Given the description of an element on the screen output the (x, y) to click on. 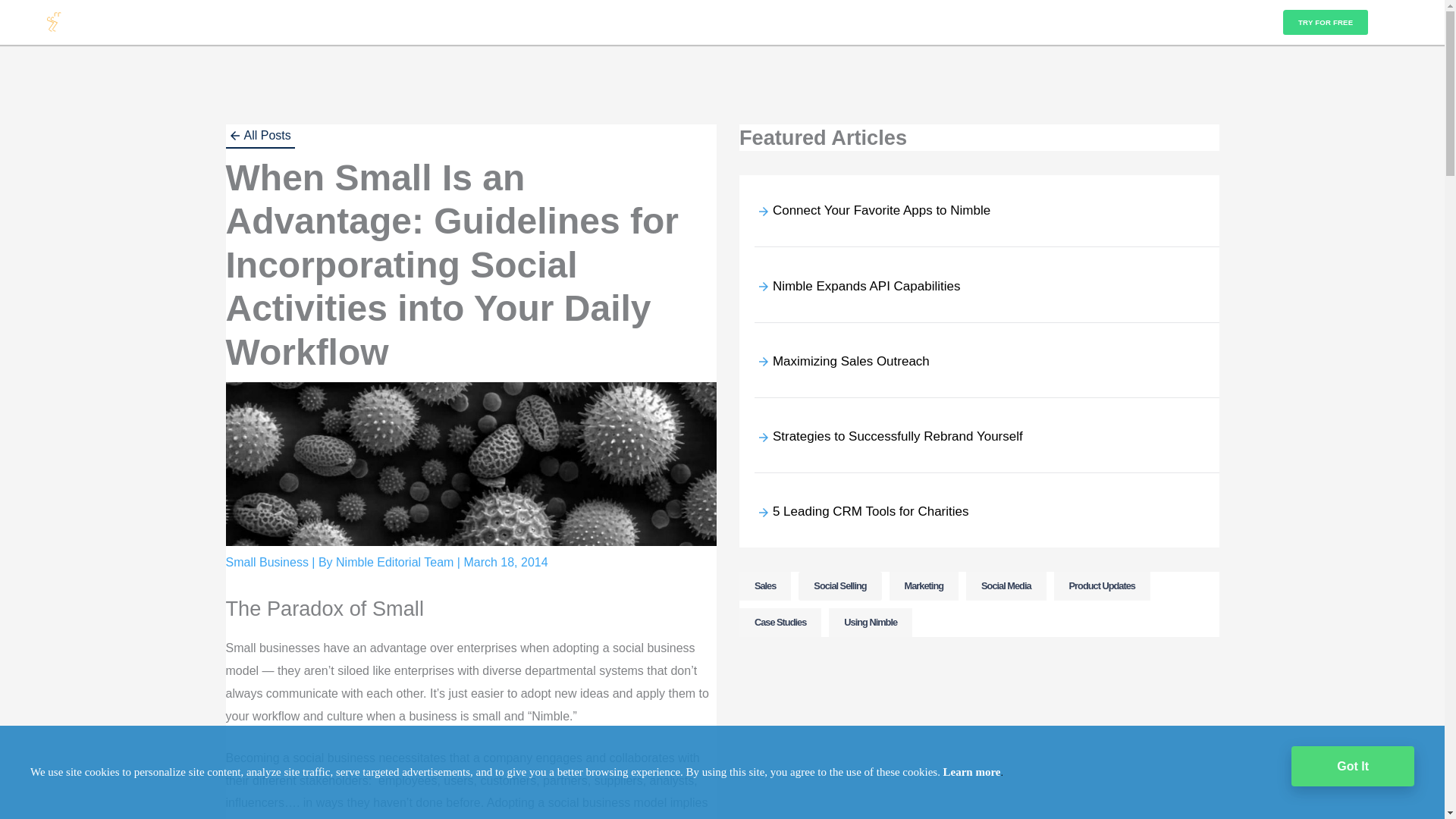
Learn more (972, 771)
Got It (1352, 766)
Maximizing Sales Outreach (851, 360)
PRODUCT UPDATES (219, 22)
Social Selling (838, 585)
USING NIMBLE (296, 22)
Product Updates (1102, 585)
Social Media (1006, 585)
Nimble Editorial Team (396, 562)
CRM (345, 22)
Connect Your Favorite Apps to Nimble (881, 210)
All Posts (260, 136)
TRY FOR FREE (1325, 22)
SALES (379, 22)
View all posts by Nimble Editorial Team (396, 562)
